Given the description of an element on the screen output the (x, y) to click on. 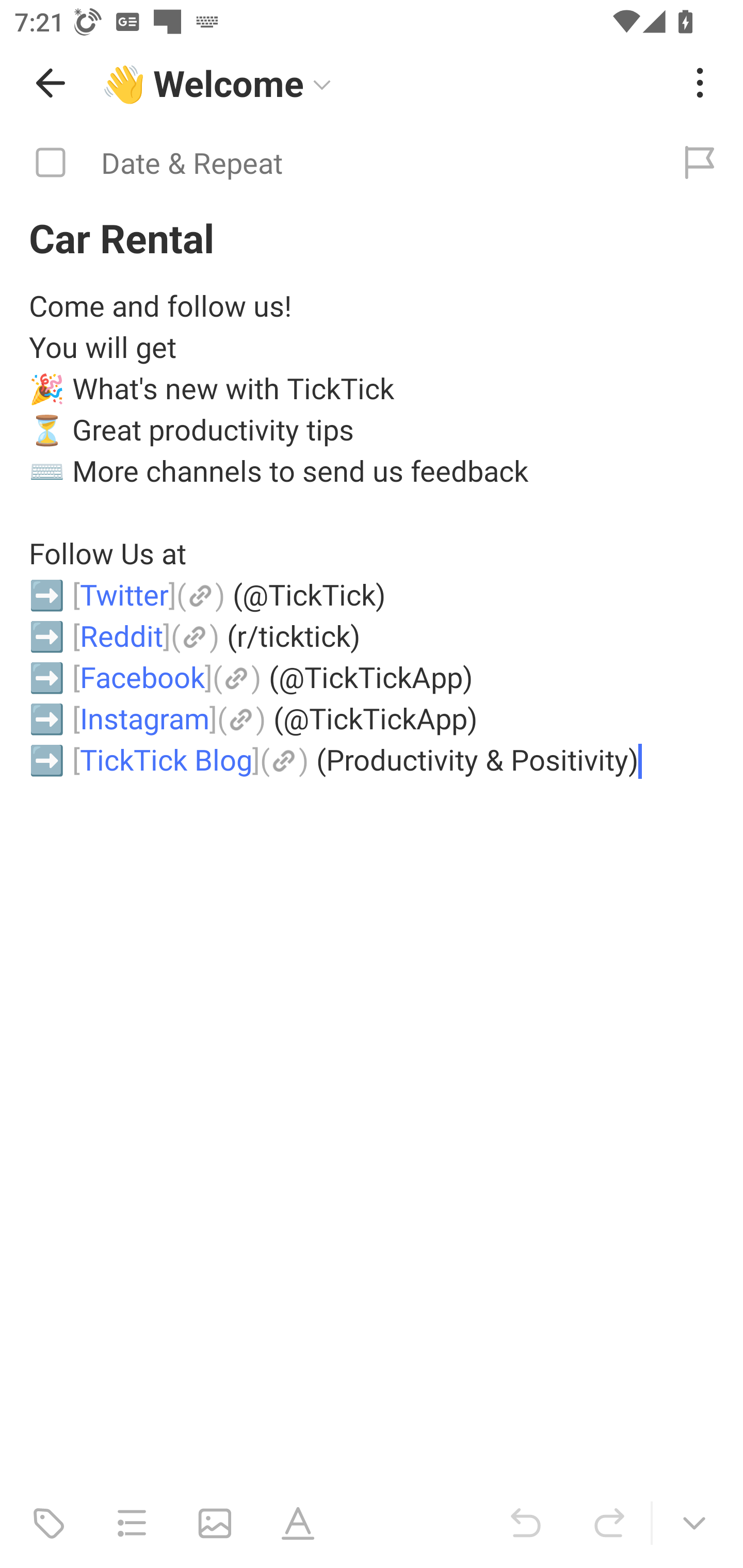
👋 Welcome (384, 82)
Date & Repeat (328, 163)
Car Rental (371, 237)
